Given the description of an element on the screen output the (x, y) to click on. 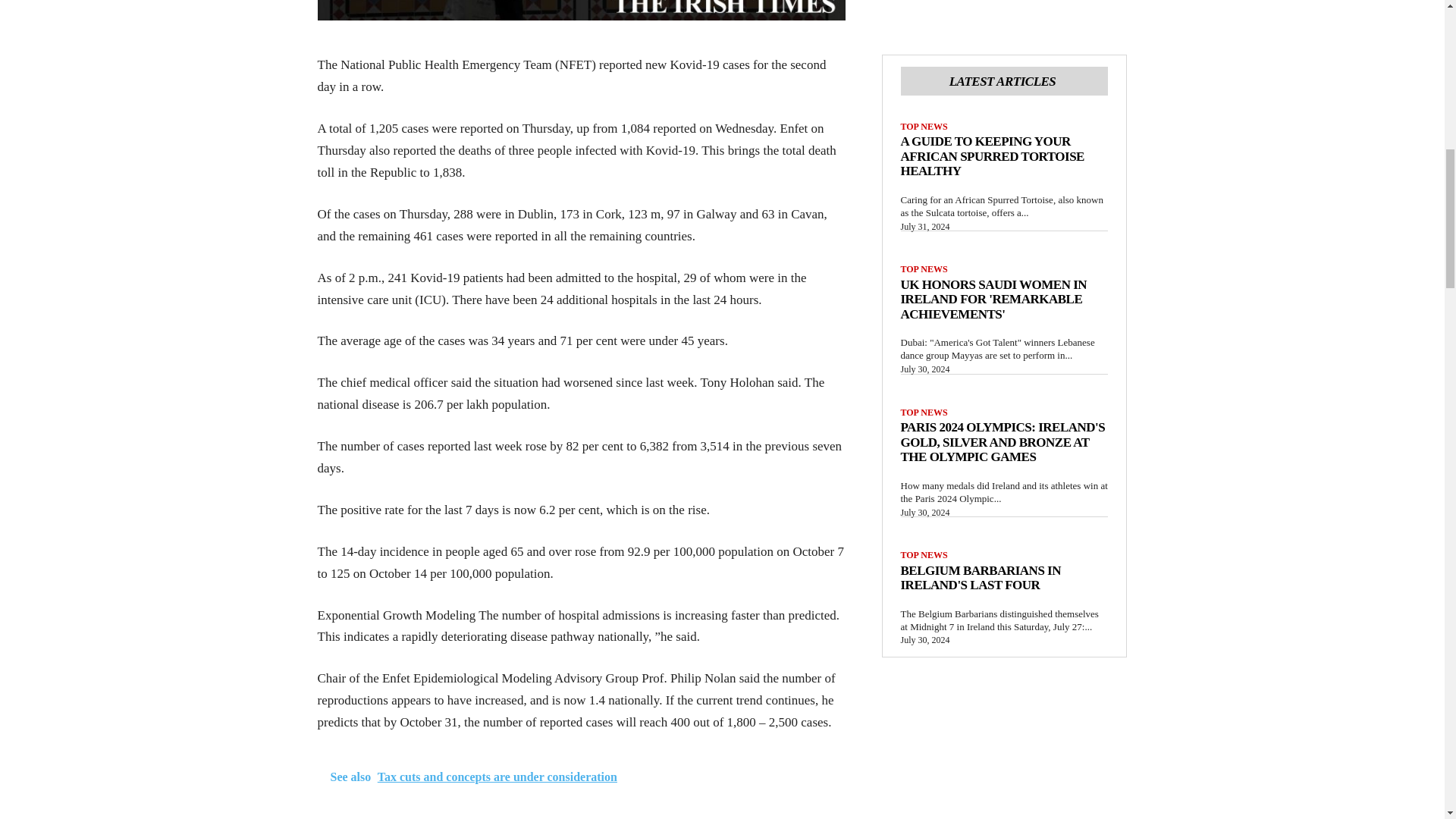
A Guide to Keeping Your African Spurred Tortoise Healthy (992, 156)
1,205 cases and three more deaths (580, 10)
TOP NEWS (924, 412)
Belgium Barbarians in Ireland's last four (981, 577)
A GUIDE TO KEEPING YOUR AFRICAN SPURRED TORTOISE HEALTHY (992, 156)
TOP NEWS (924, 554)
TOP NEWS (924, 126)
See also  Tax cuts and concepts are under consideration (580, 777)
TOP NEWS (924, 268)
